Given the description of an element on the screen output the (x, y) to click on. 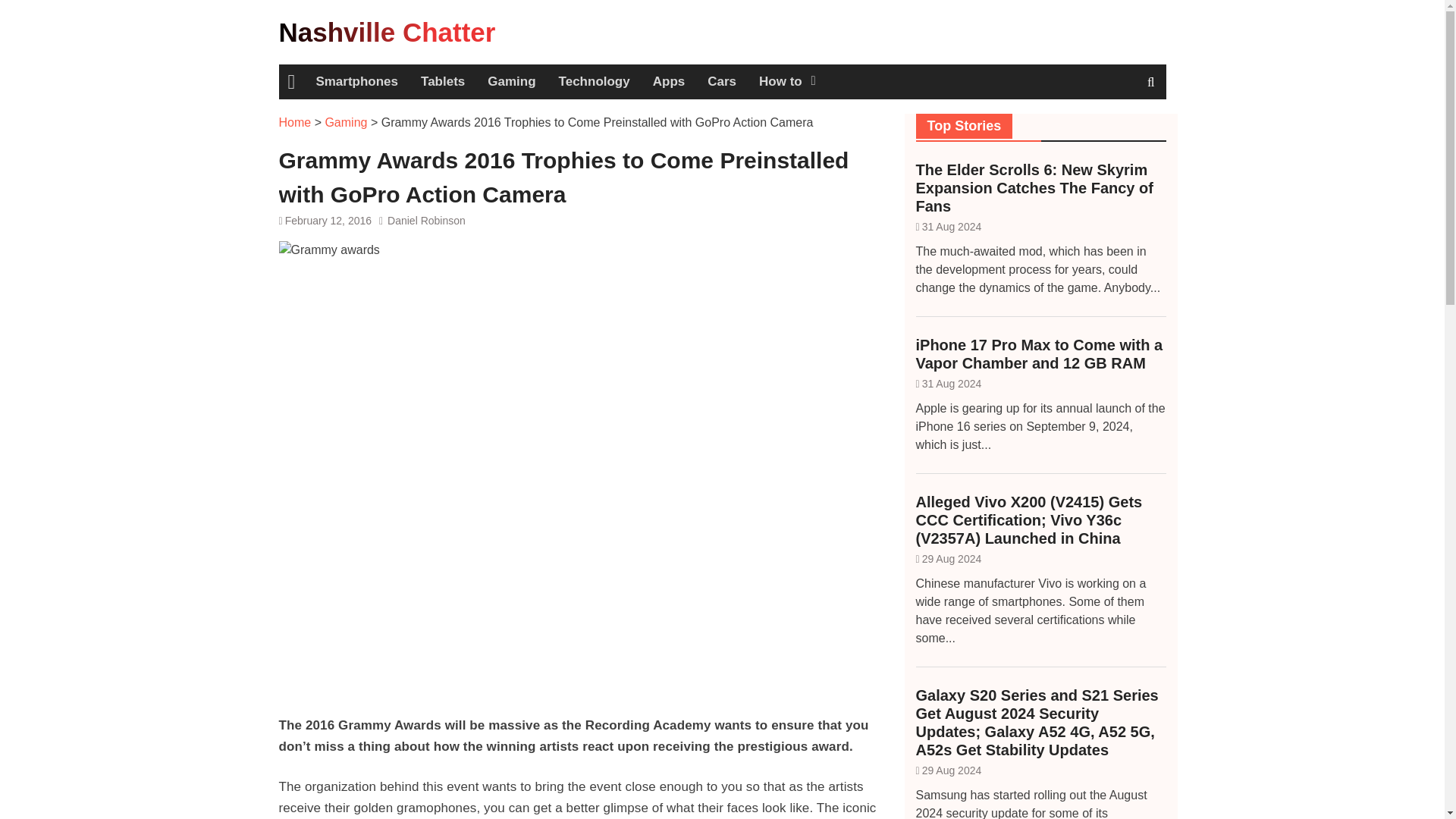
Daniel Robinson (426, 220)
February 12, 2016 (328, 220)
How to (786, 81)
Apps (669, 81)
Cars (721, 81)
Smartphones (356, 81)
Gaming (511, 81)
Nashville Chatter (387, 31)
Home (295, 122)
